Given the description of an element on the screen output the (x, y) to click on. 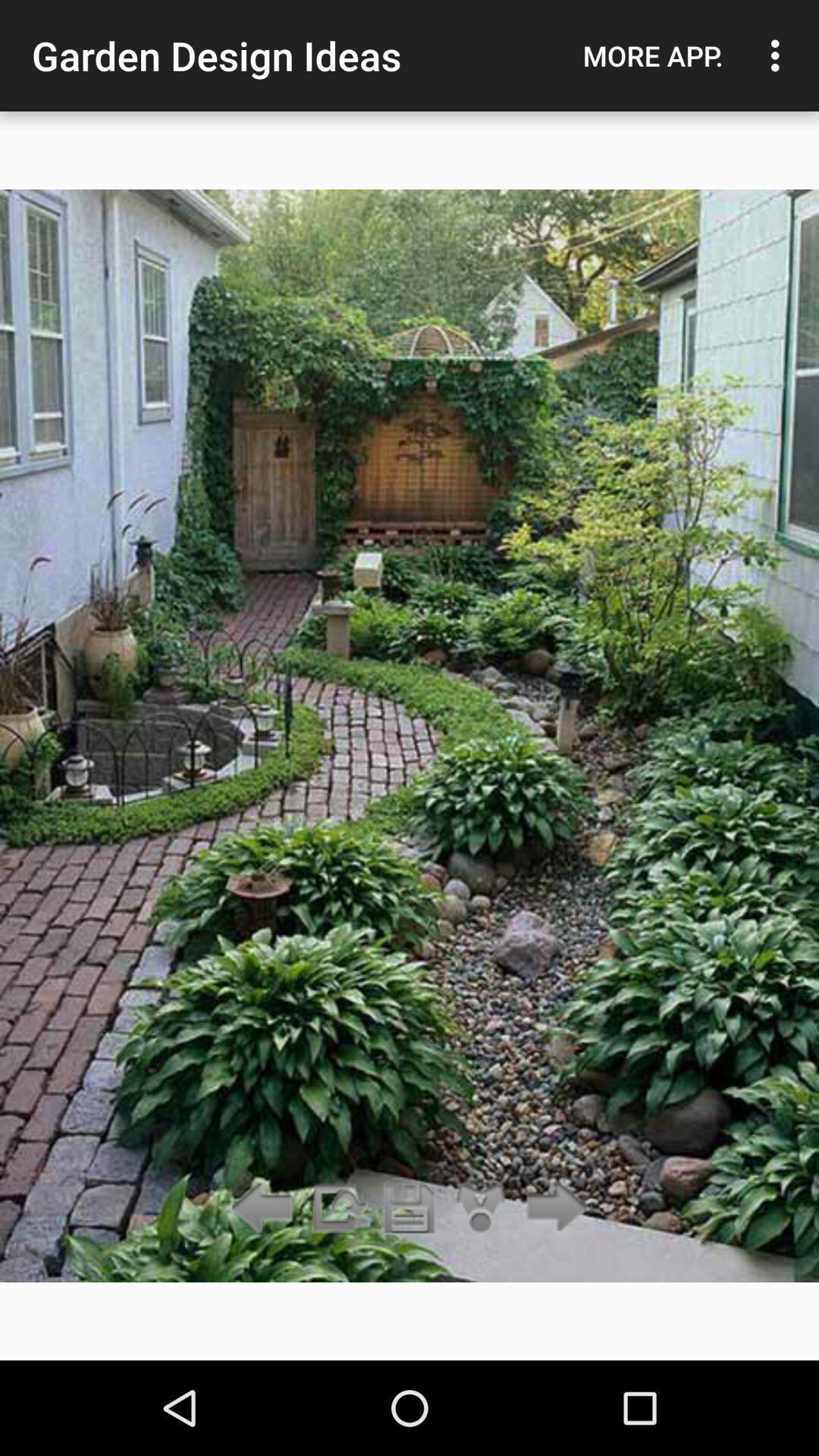
flip to the more app. (653, 55)
